Given the description of an element on the screen output the (x, y) to click on. 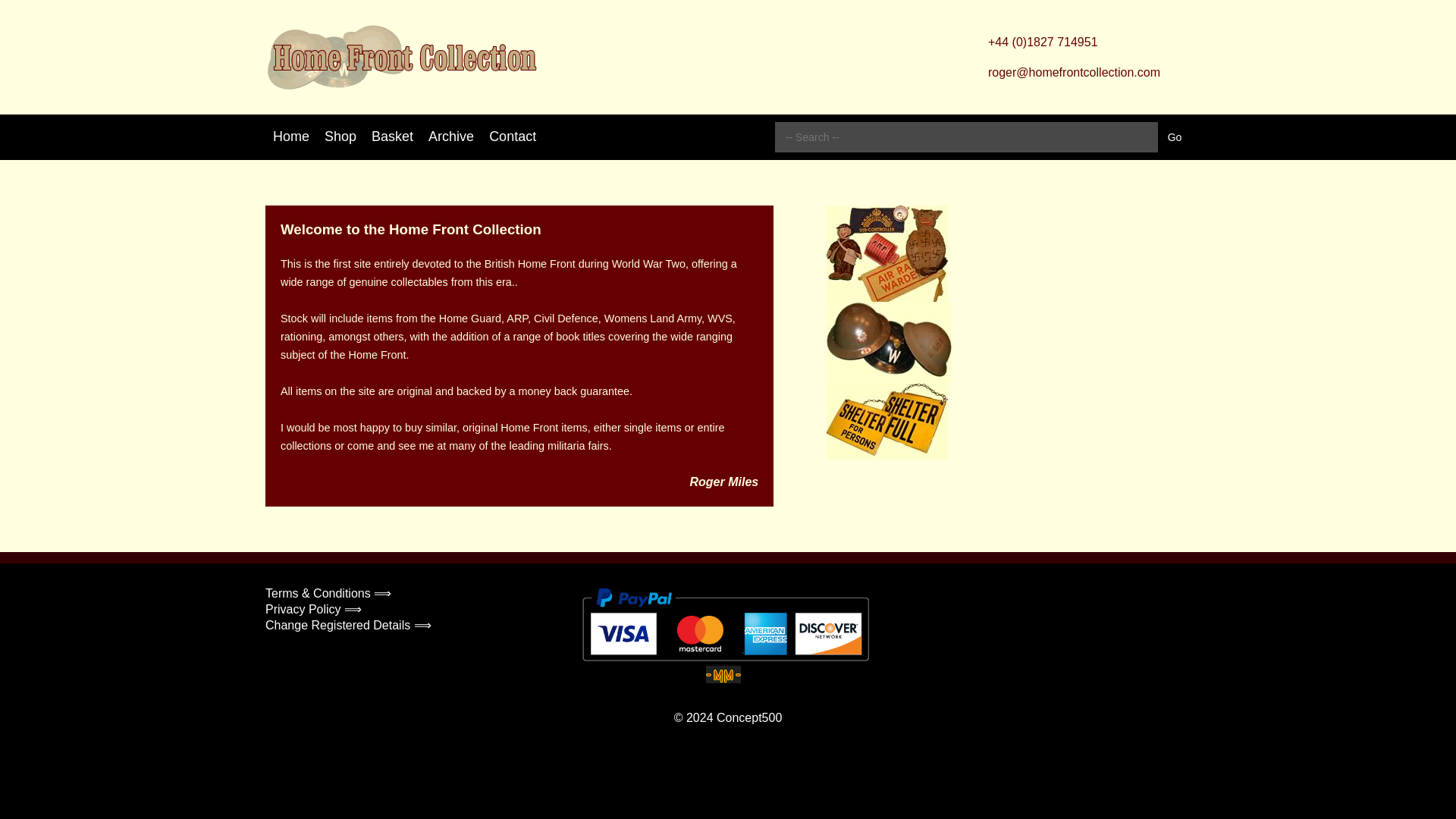
Contact (512, 136)
Basket (392, 136)
Paypal (725, 624)
Logo (400, 56)
Go (1174, 137)
Archive (450, 136)
Home (290, 136)
Go (1174, 137)
Shop (340, 136)
Concept500 (748, 717)
